Given the description of an element on the screen output the (x, y) to click on. 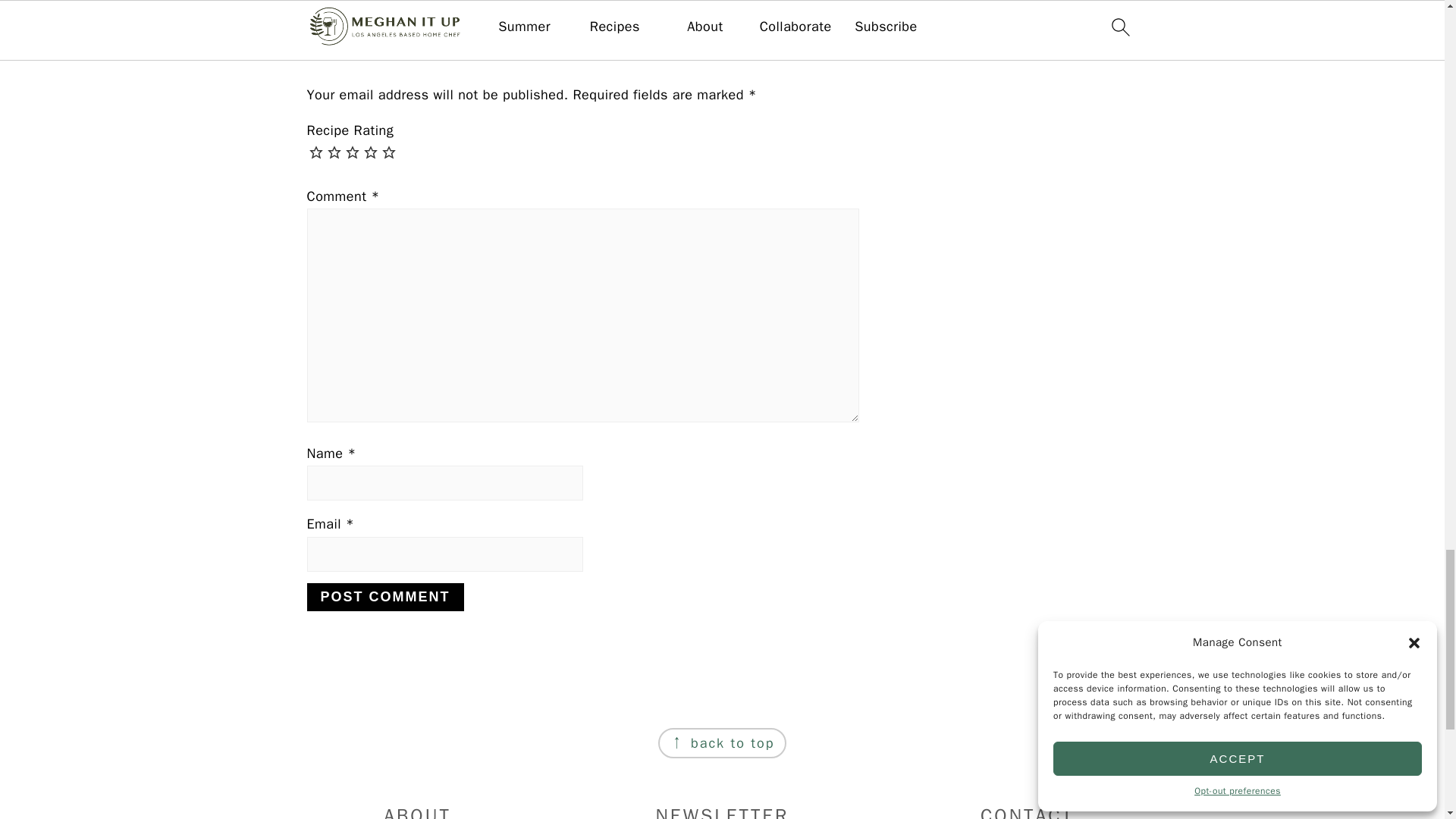
Post Comment (384, 596)
